Given the description of an element on the screen output the (x, y) to click on. 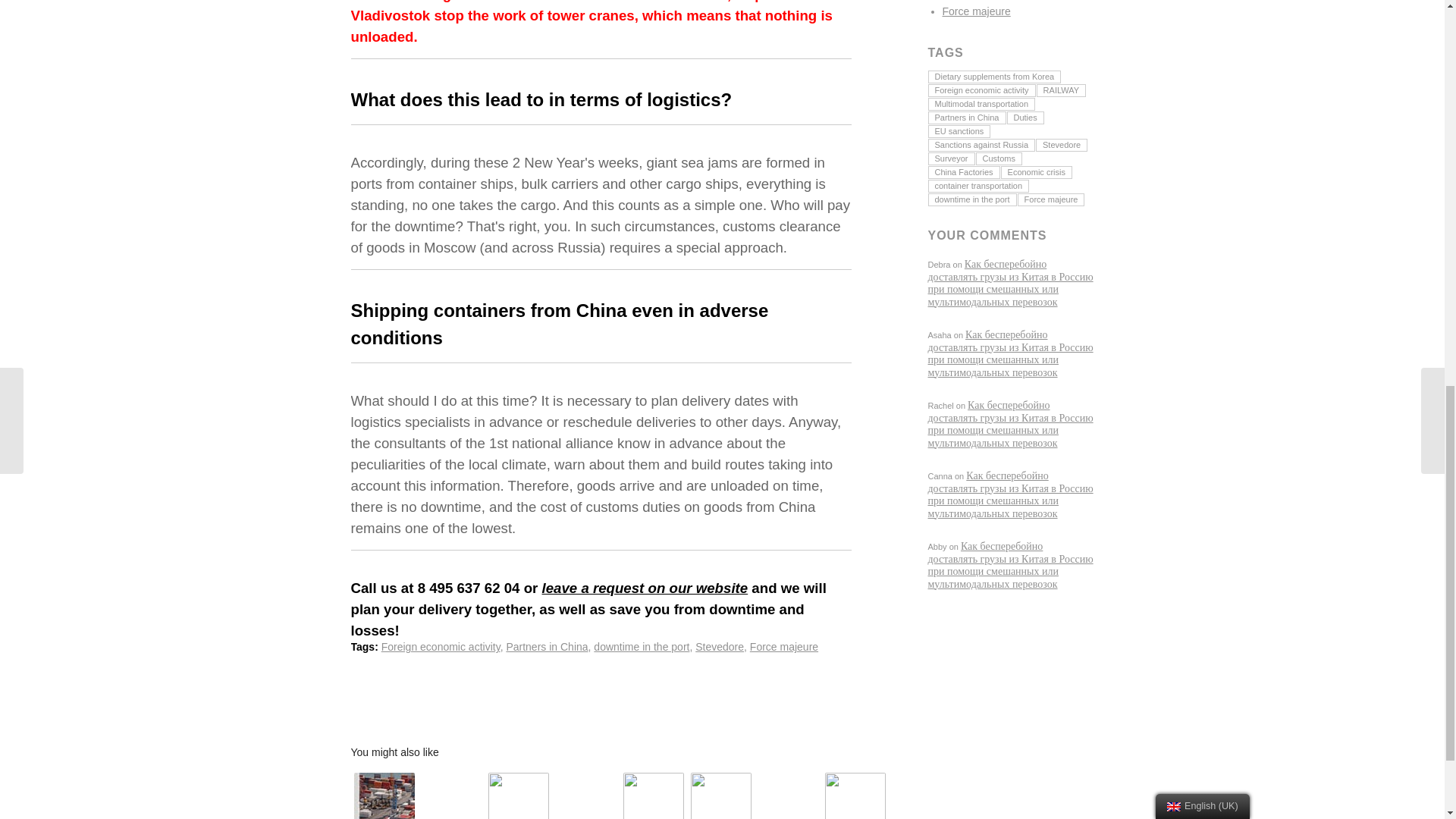
multimodalnje-perevozoki-iz-kitaya-mini-1 (855, 796)
multimodalnje-perevozoki-iz-kitaya-mini-6 (517, 796)
multimodalnje-perevozoki-iz-kitaya-mini-2 (720, 796)
multimodalnje-perevozoki-iz-kitaya-mini-10 (653, 796)
multimodalnje-perevozoki-iz-kitaya-mini-8 (383, 796)
